Given the description of an element on the screen output the (x, y) to click on. 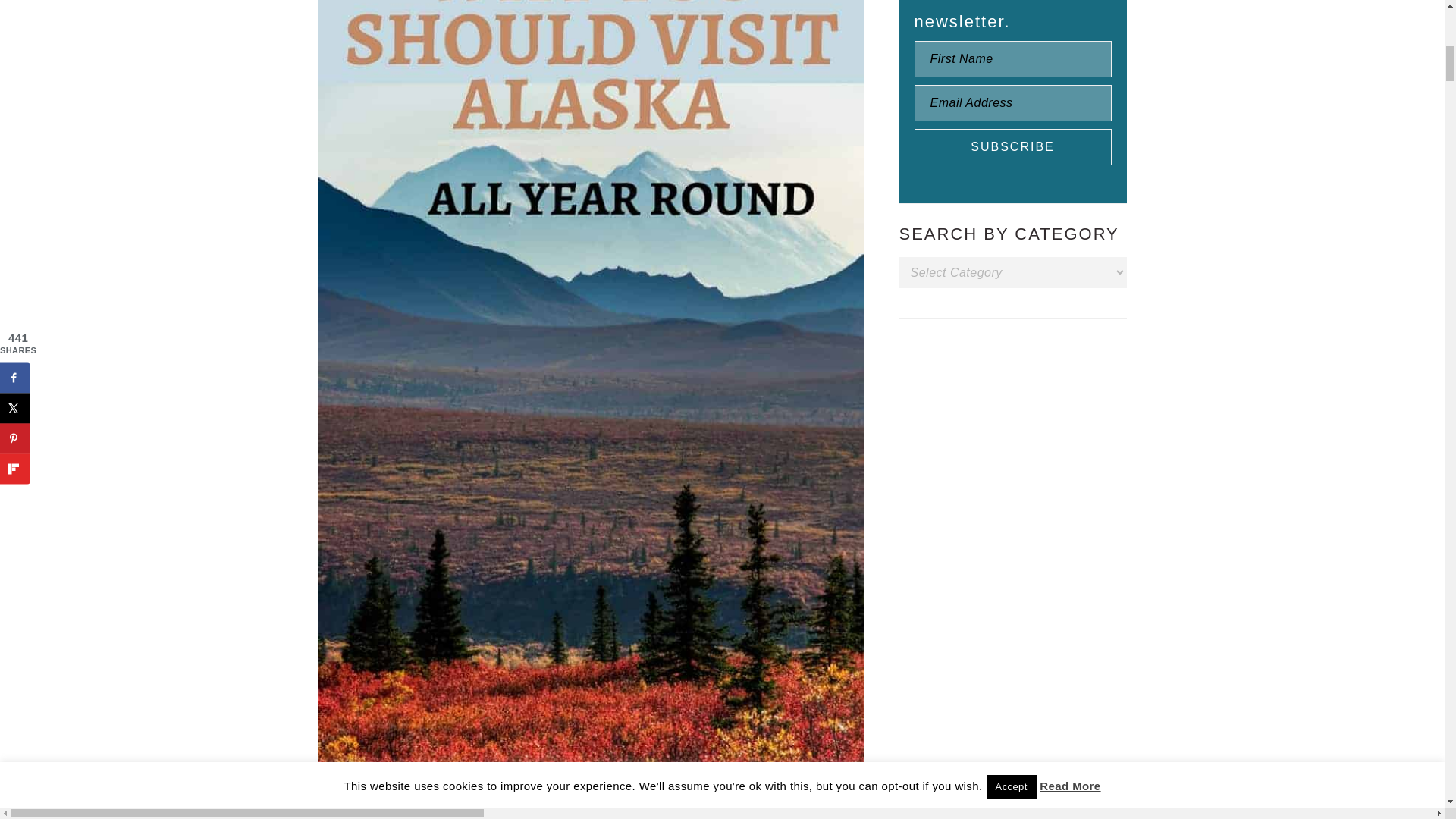
Subscribe (1013, 146)
